Given the description of an element on the screen output the (x, y) to click on. 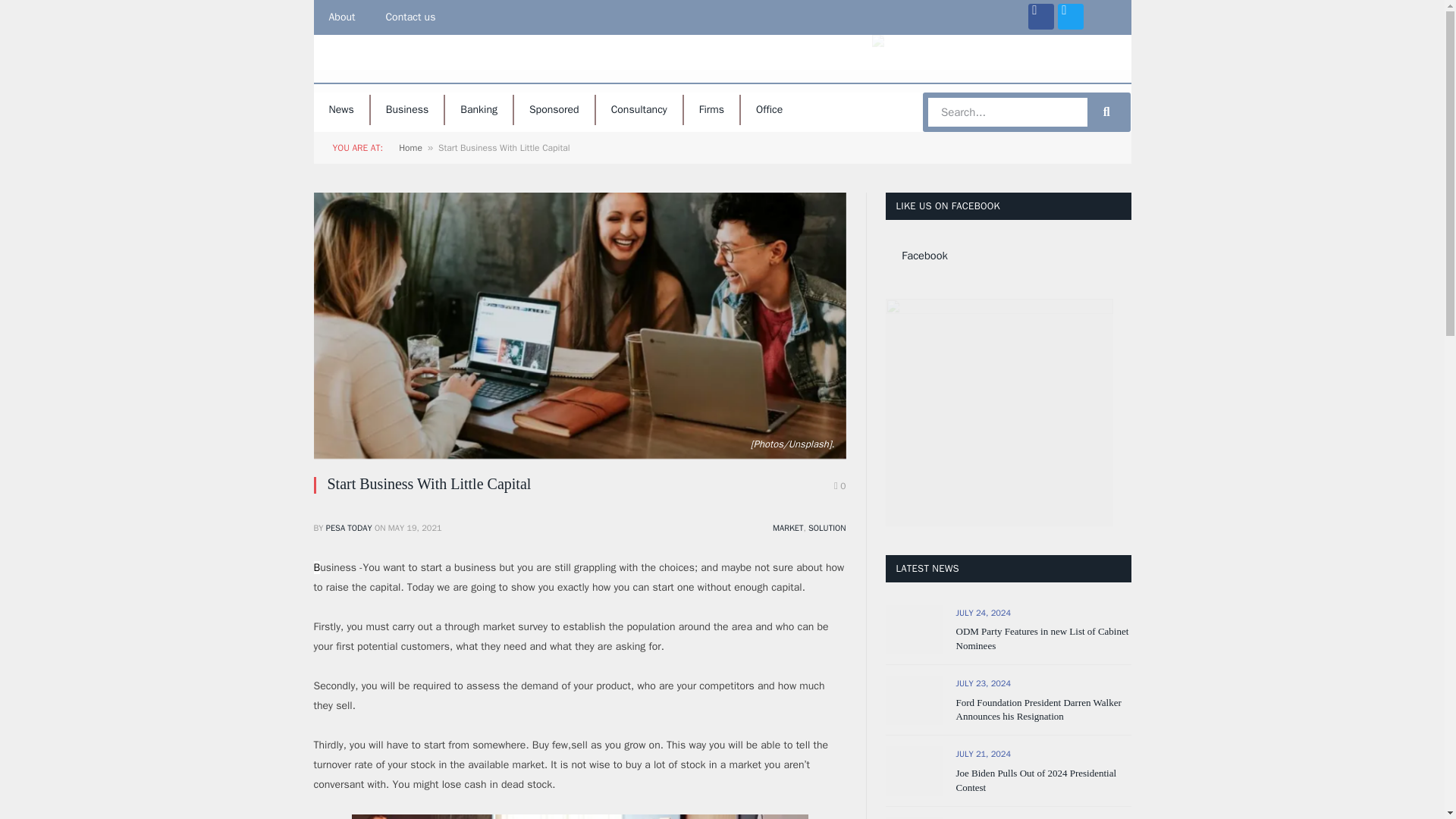
Firms (711, 109)
About (342, 17)
2021-05-19 (415, 527)
Banking (478, 109)
Consultancy (638, 109)
Contact us (409, 17)
Posts by Pesa Today (349, 527)
News (341, 109)
Sponsored (553, 109)
Business (407, 109)
Office (769, 109)
